Given the description of an element on the screen output the (x, y) to click on. 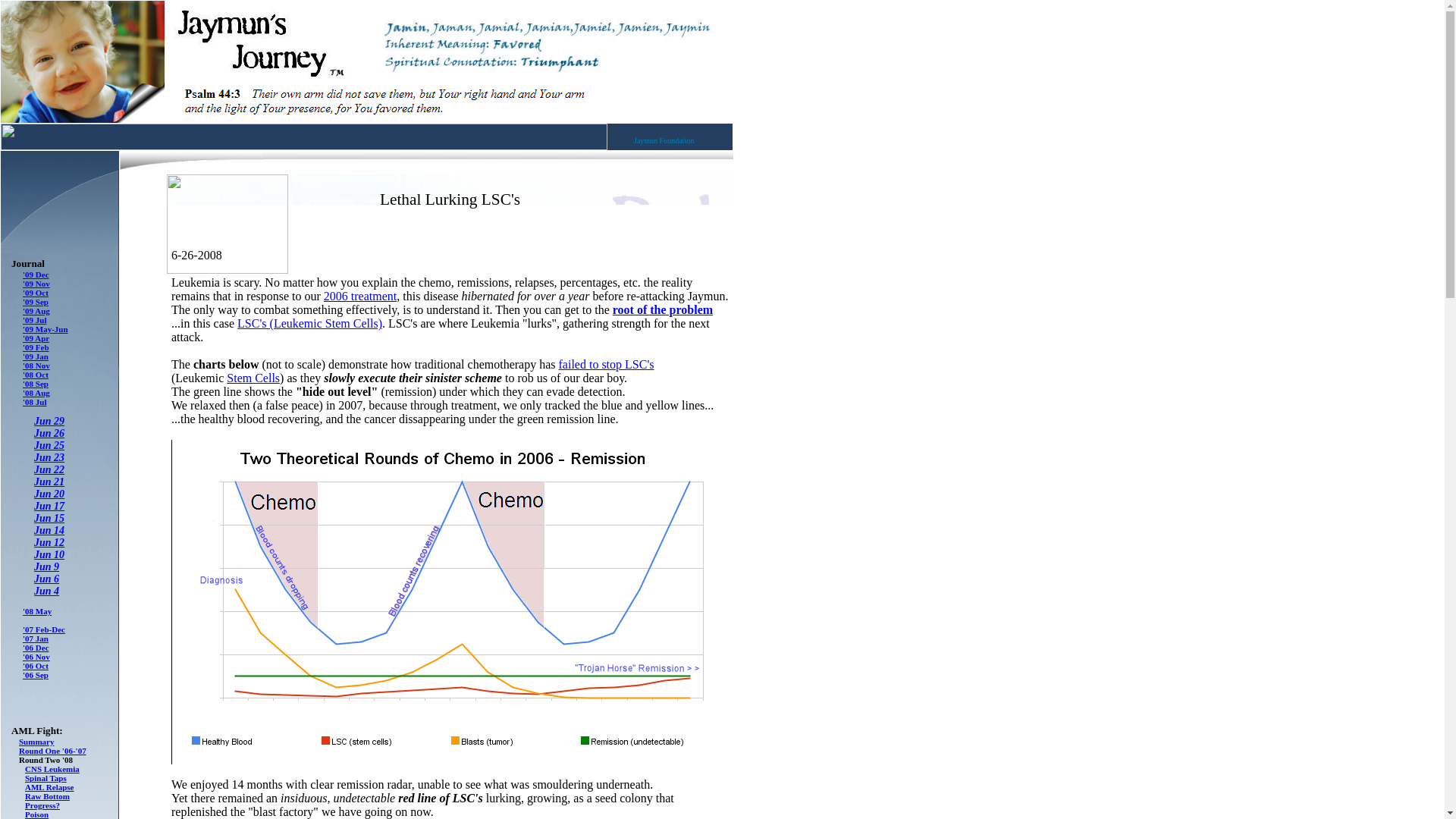
'08 Sep (35, 383)
'09 Apr (36, 338)
'09 May-Jun (45, 328)
'09 Aug (36, 310)
'08 Aug (36, 392)
failed to stop LSC's (606, 364)
'09 Dec (36, 274)
'09 Oct (35, 292)
Jun 25 (48, 445)
'09 Sep (35, 301)
2006 treatment (359, 295)
'09 Jul (34, 319)
'08 Oct (35, 374)
'08 Nov (36, 365)
'08 Jul (34, 401)
